Given the description of an element on the screen output the (x, y) to click on. 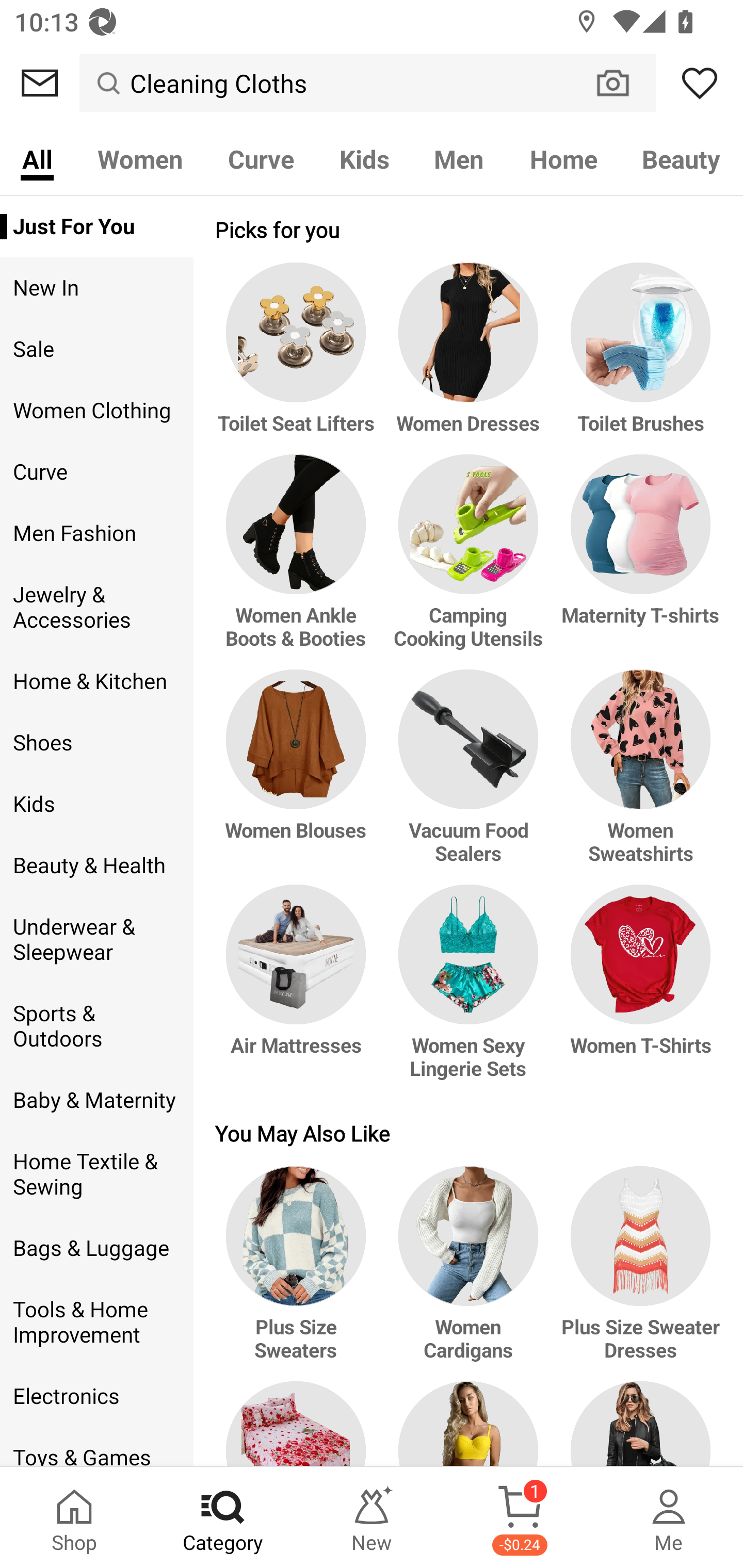
Wishlist (699, 82)
VISUAL SEARCH (623, 82)
All (37, 158)
Women (139, 158)
Curve (260, 158)
Kids (363, 158)
Men (458, 158)
Home (563, 158)
Beauty (681, 158)
Just For You (96, 226)
Picks for you (468, 228)
New In (96, 287)
Toilet Seat Lifters (299, 357)
Women Dresses (468, 357)
Toilet Brushes (636, 357)
Sale (96, 348)
Women Clothing (96, 410)
Curve (96, 472)
Women Ankle Boots & Booties (299, 561)
Camping Cooking Utensils (468, 561)
Maternity T-shirts (636, 561)
Men Fashion (96, 533)
Jewelry & Accessories (96, 607)
Home & Kitchen (96, 680)
Women Blouses (299, 776)
Vacuum Food Sealers (468, 776)
Women Sweatshirts (636, 776)
Shoes (96, 742)
Kids (96, 804)
Beauty & Health (96, 865)
Air Mattresses (299, 991)
Women Sexy Lingerie Sets (468, 991)
Women T-Shirts (636, 991)
Underwear & Sleepwear (96, 939)
Sports & Outdoors (96, 1026)
Baby & Maternity (96, 1099)
You May Also Like (468, 1132)
Home Textile & Sewing (96, 1174)
Plus Size Sweaters (299, 1273)
Women Cardigans (468, 1273)
Plus Size Sweater Dresses (636, 1273)
Bags & Luggage (96, 1248)
Tools & Home Improvement (96, 1322)
Electronics (96, 1395)
Toys & Games (96, 1446)
Shop (74, 1517)
New (371, 1517)
Cart 1 -$0.24 (519, 1517)
Me (668, 1517)
